Given the description of an element on the screen output the (x, y) to click on. 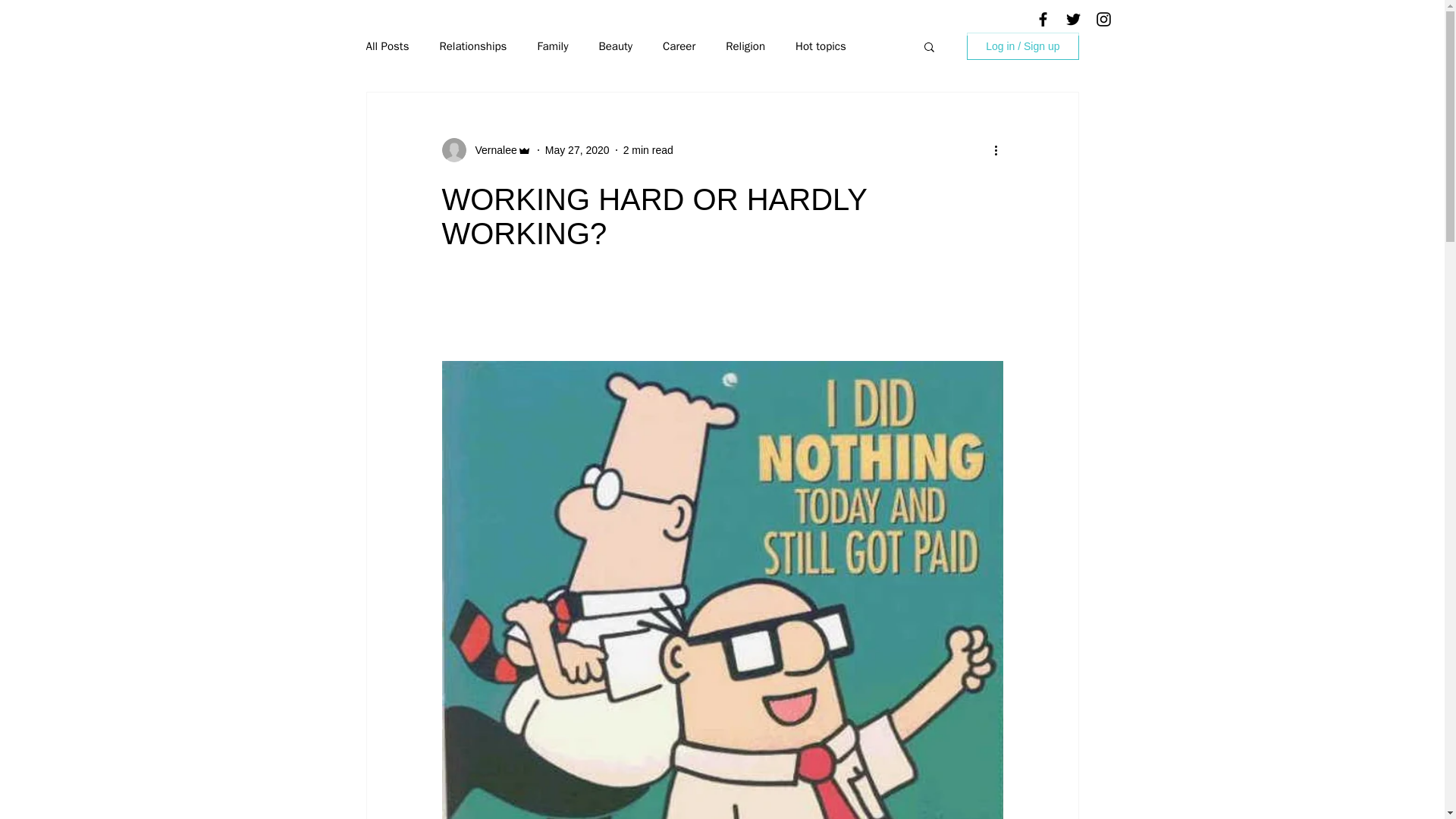
Relationships (472, 46)
2 min read (647, 150)
May 27, 2020 (577, 150)
Vernalee (490, 150)
Religion (745, 46)
All Posts (387, 46)
Hot topics (819, 46)
Beauty (614, 46)
Career (678, 46)
Family (552, 46)
